Given the description of an element on the screen output the (x, y) to click on. 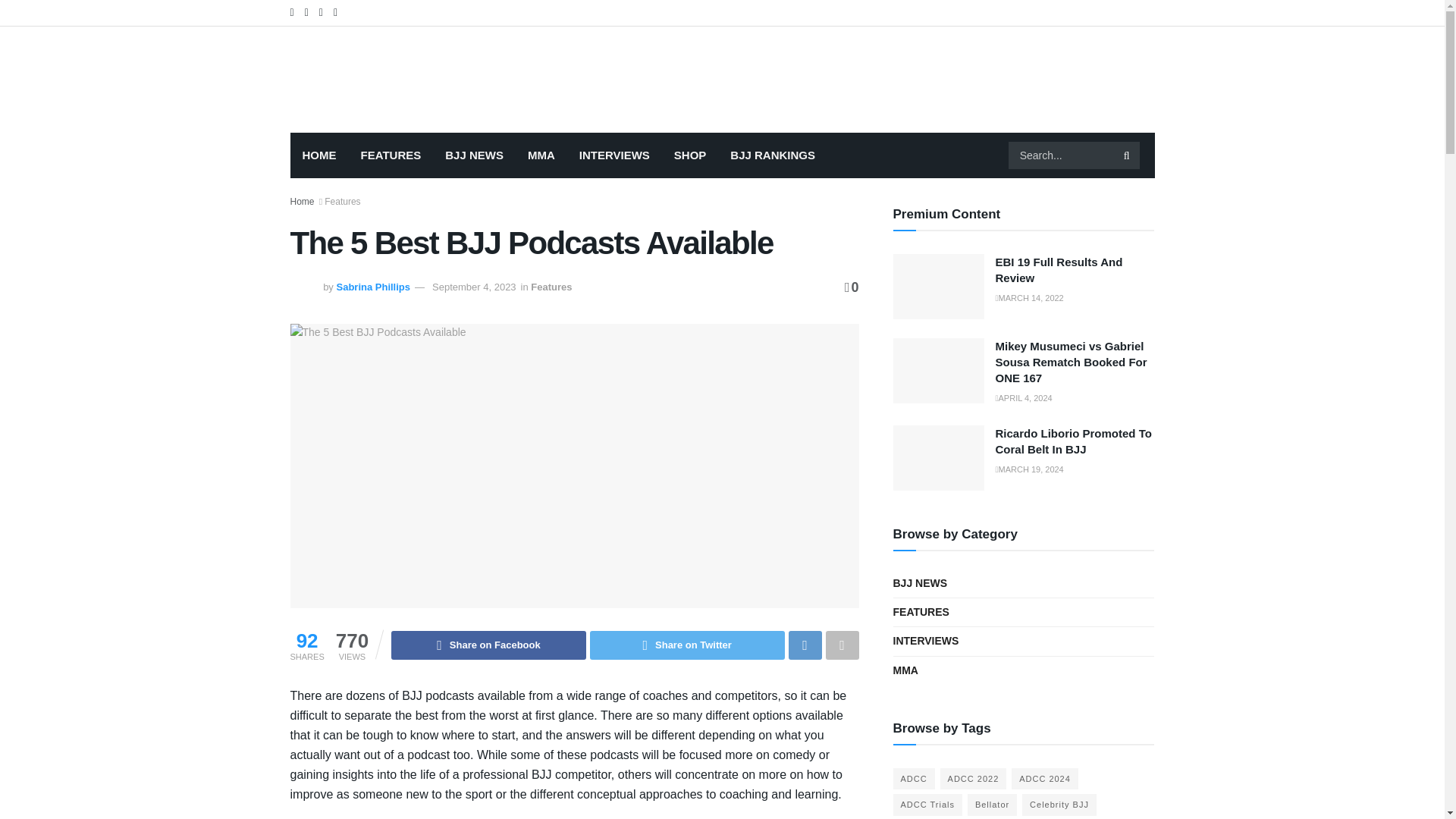
Share on Twitter (686, 645)
Features (341, 201)
Share on Facebook (488, 645)
SHOP (690, 155)
September 4, 2023 (474, 286)
BJJ RANKINGS (772, 155)
HOME (318, 155)
BJJ NEWS (473, 155)
0 (851, 287)
INTERVIEWS (614, 155)
FEATURES (391, 155)
MMA (541, 155)
Sabrina Phillips (373, 286)
Home (301, 201)
Features (551, 286)
